Given the description of an element on the screen output the (x, y) to click on. 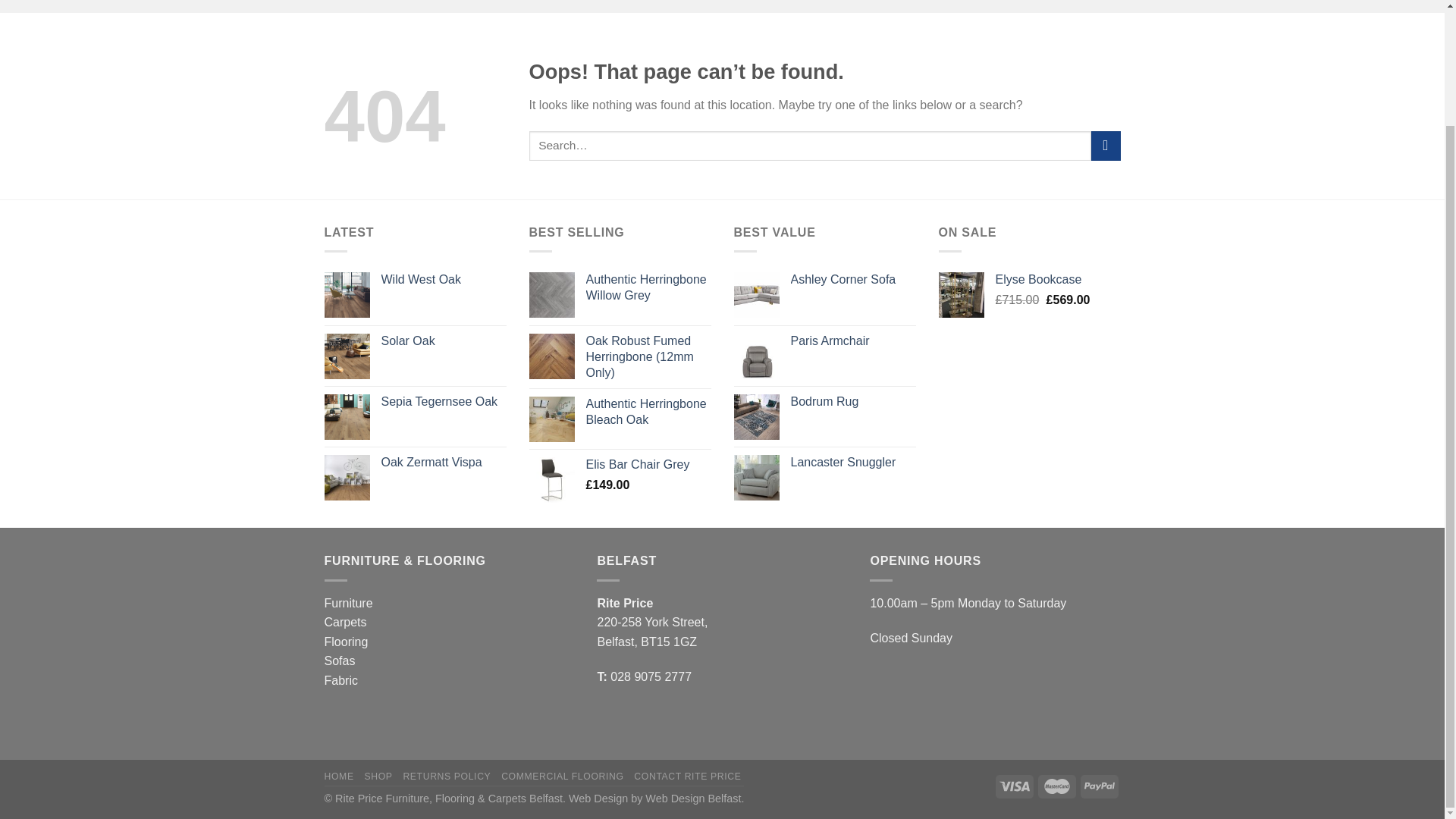
Furniture and Flooring Store Belfast (377, 776)
BEDS (577, 6)
SOFAS (516, 6)
Commercial Flooring (561, 776)
Furniture Store Belfast (338, 776)
FURNISHINGS (827, 6)
